Given the description of an element on the screen output the (x, y) to click on. 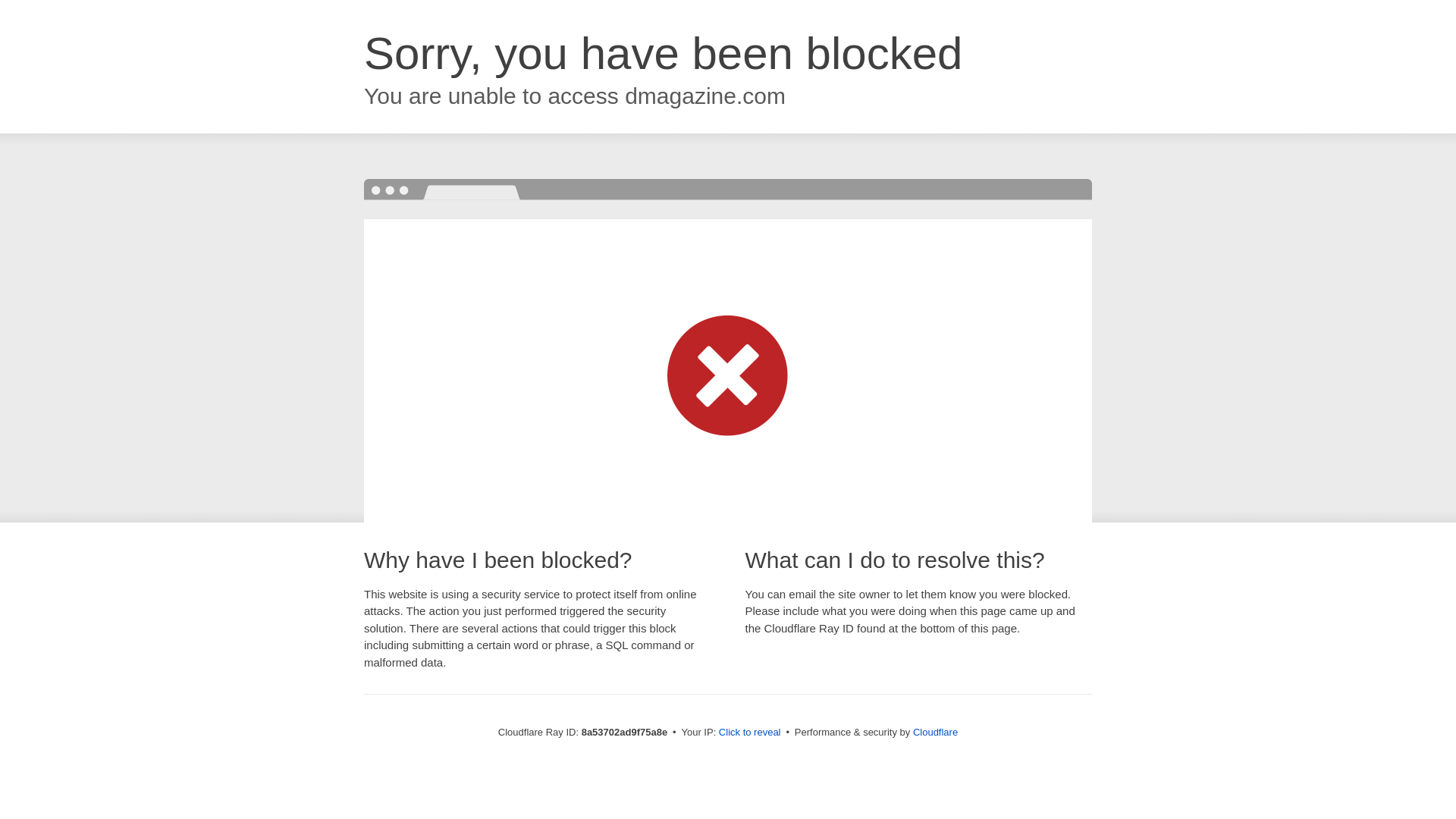
Click to reveal (749, 732)
Cloudflare (935, 731)
